Given the description of an element on the screen output the (x, y) to click on. 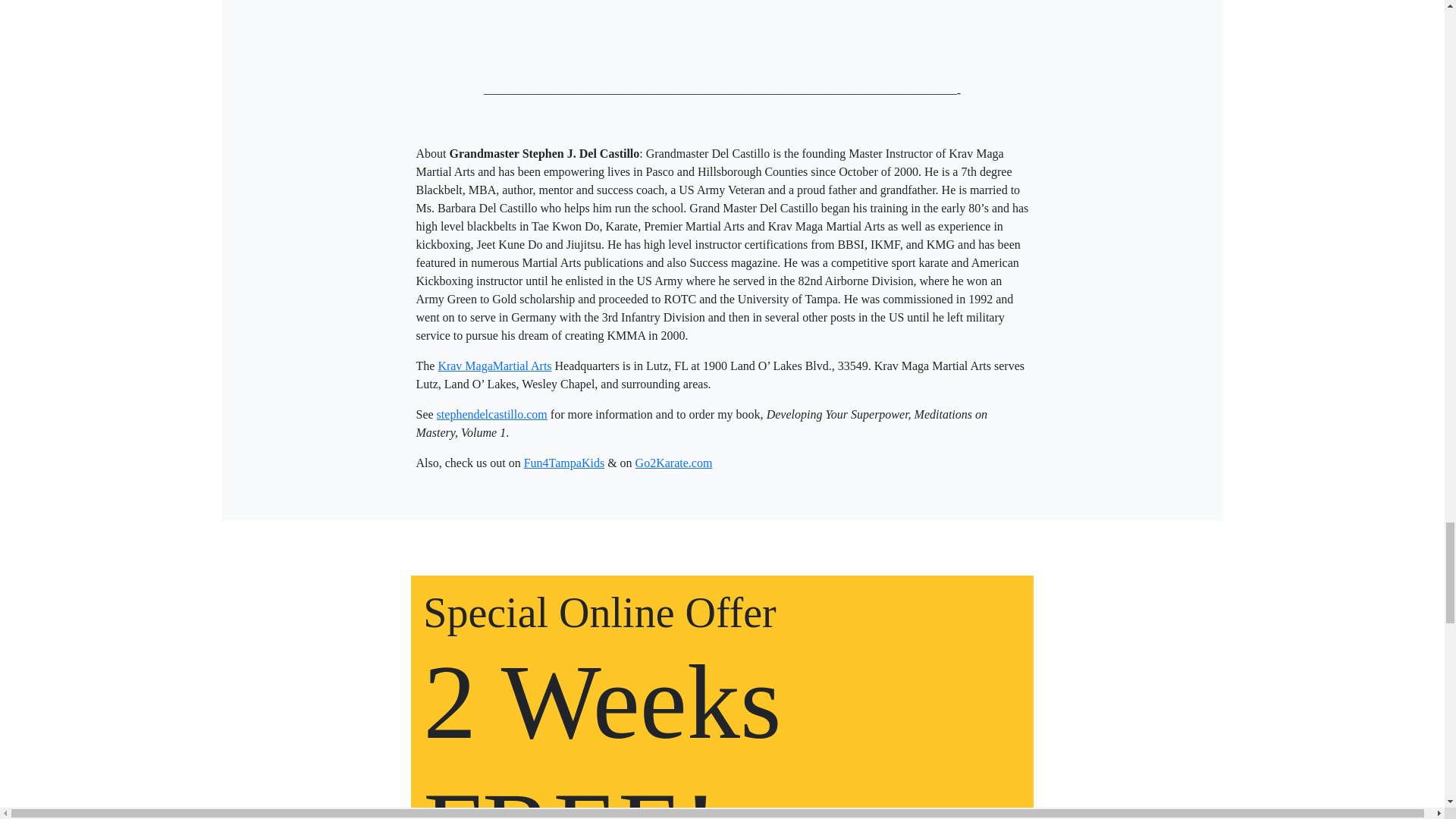
Go2Karate.com (673, 462)
Fun4TampaKids (564, 462)
Krav MagaMartial Arts (494, 365)
stephendelcastillo.com (491, 413)
